Given the description of an element on the screen output the (x, y) to click on. 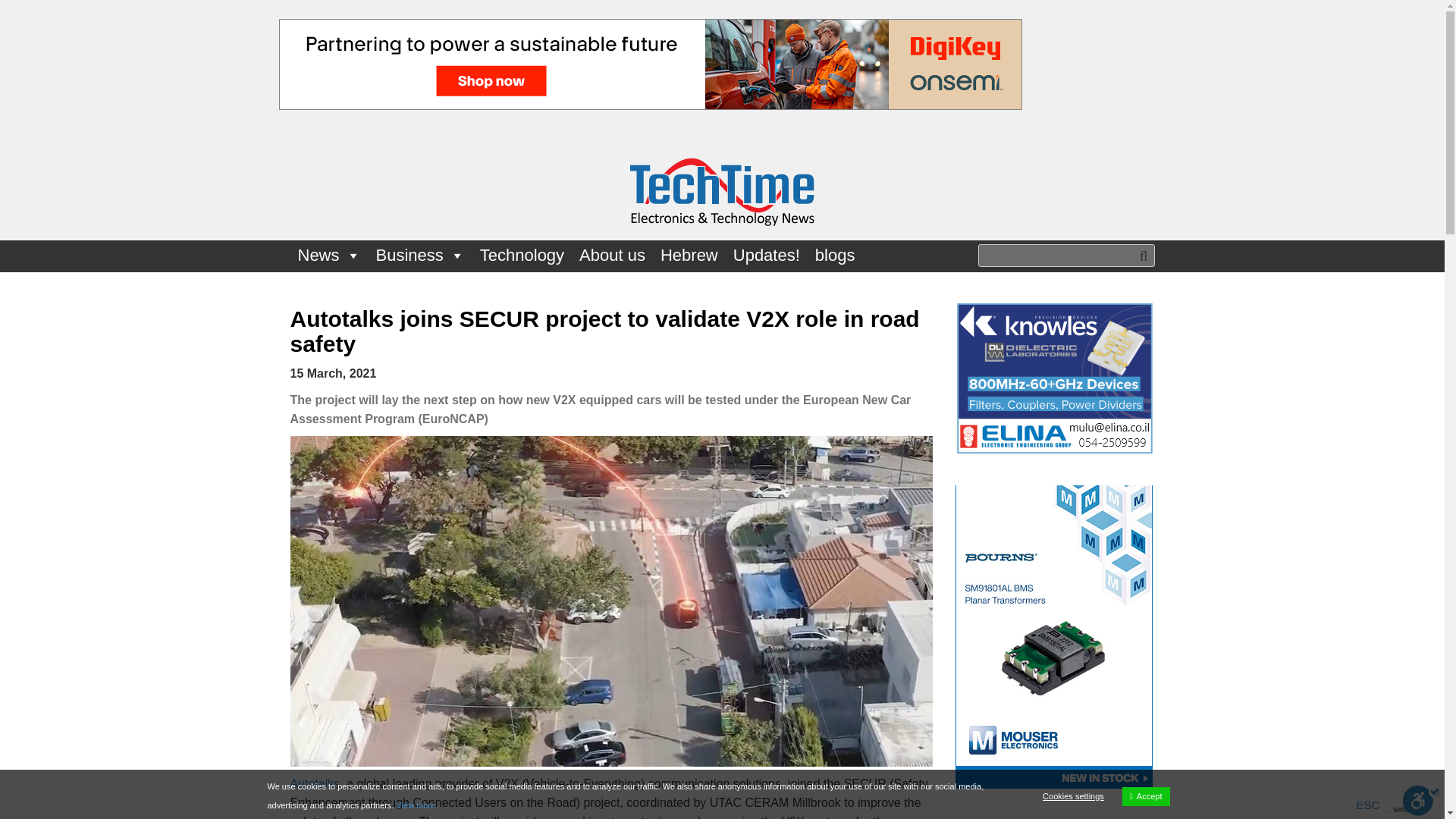
Business (419, 255)
News (328, 255)
blogs (835, 255)
Technology (521, 255)
About us (612, 255)
Updates! (766, 255)
Hebrew (688, 255)
